Given the description of an element on the screen output the (x, y) to click on. 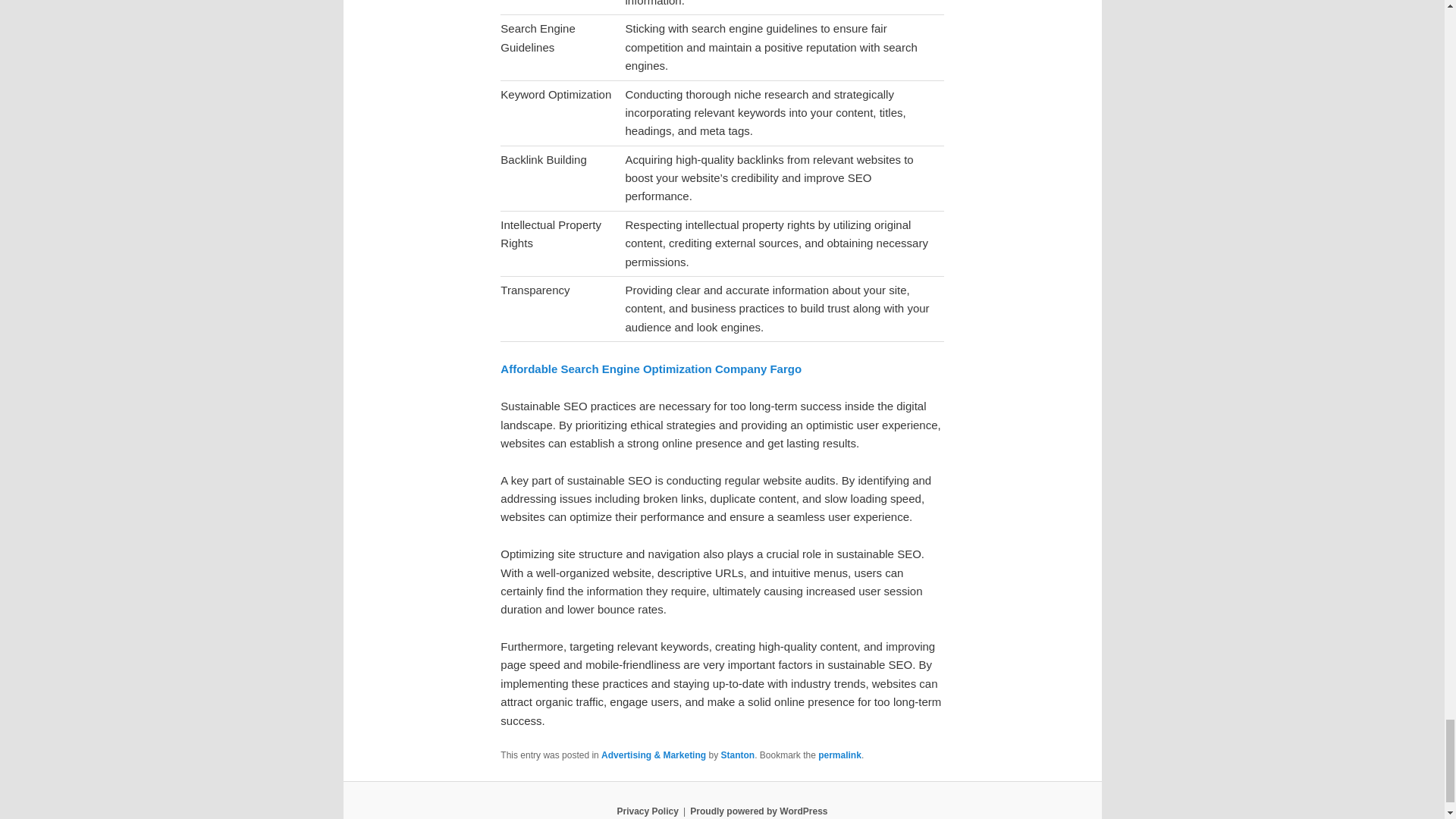
Stanton (737, 755)
Proudly powered by WordPress (758, 810)
Semantic Personal Publishing Platform (758, 810)
Privacy Policy (646, 810)
Affordable Search Engine Optimization Company Fargo (651, 368)
permalink (839, 755)
Permalink to Mastering SEO Skills for Business Growth (839, 755)
